Given the description of an element on the screen output the (x, y) to click on. 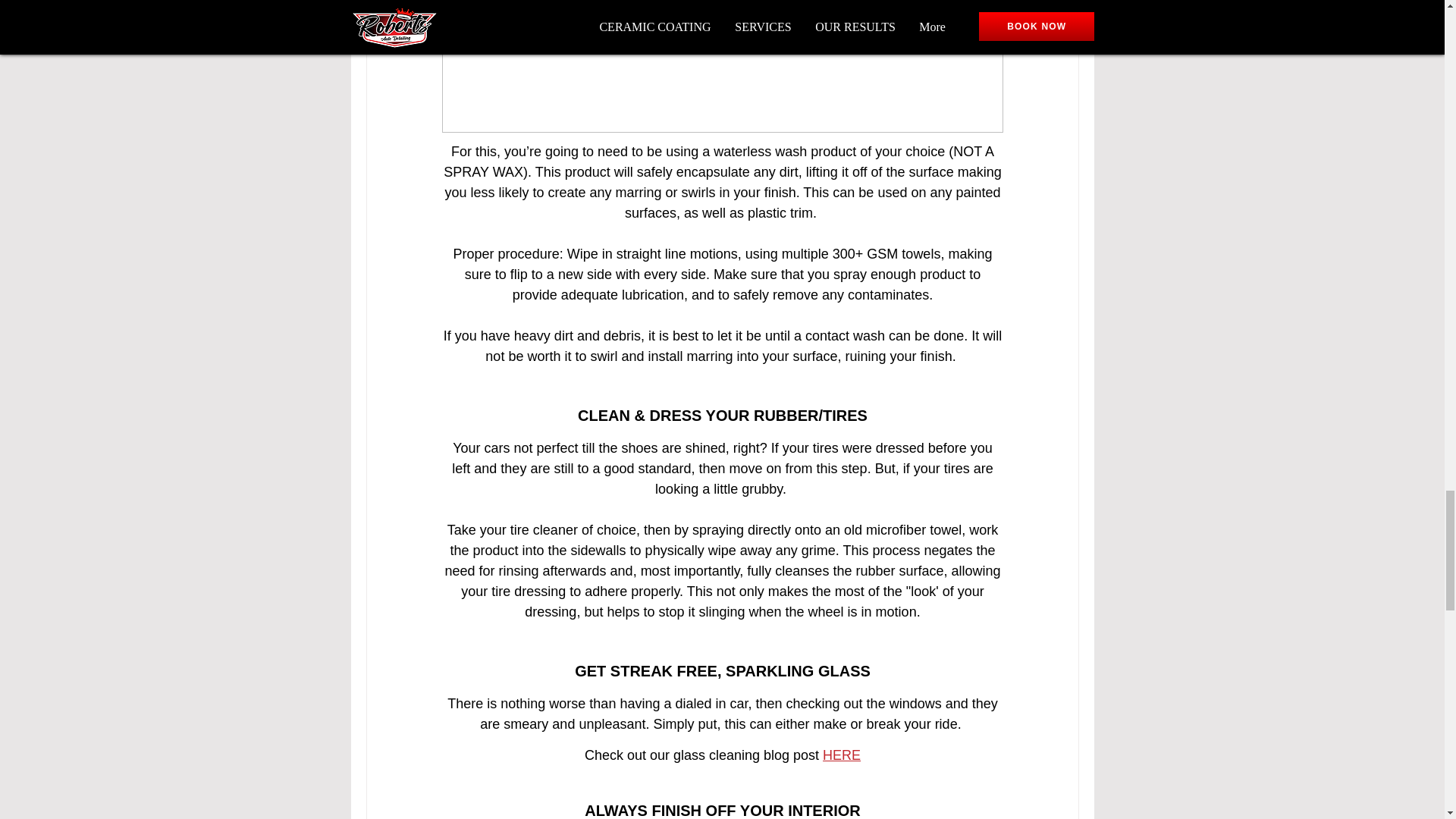
HERE (841, 754)
